Given the description of an element on the screen output the (x, y) to click on. 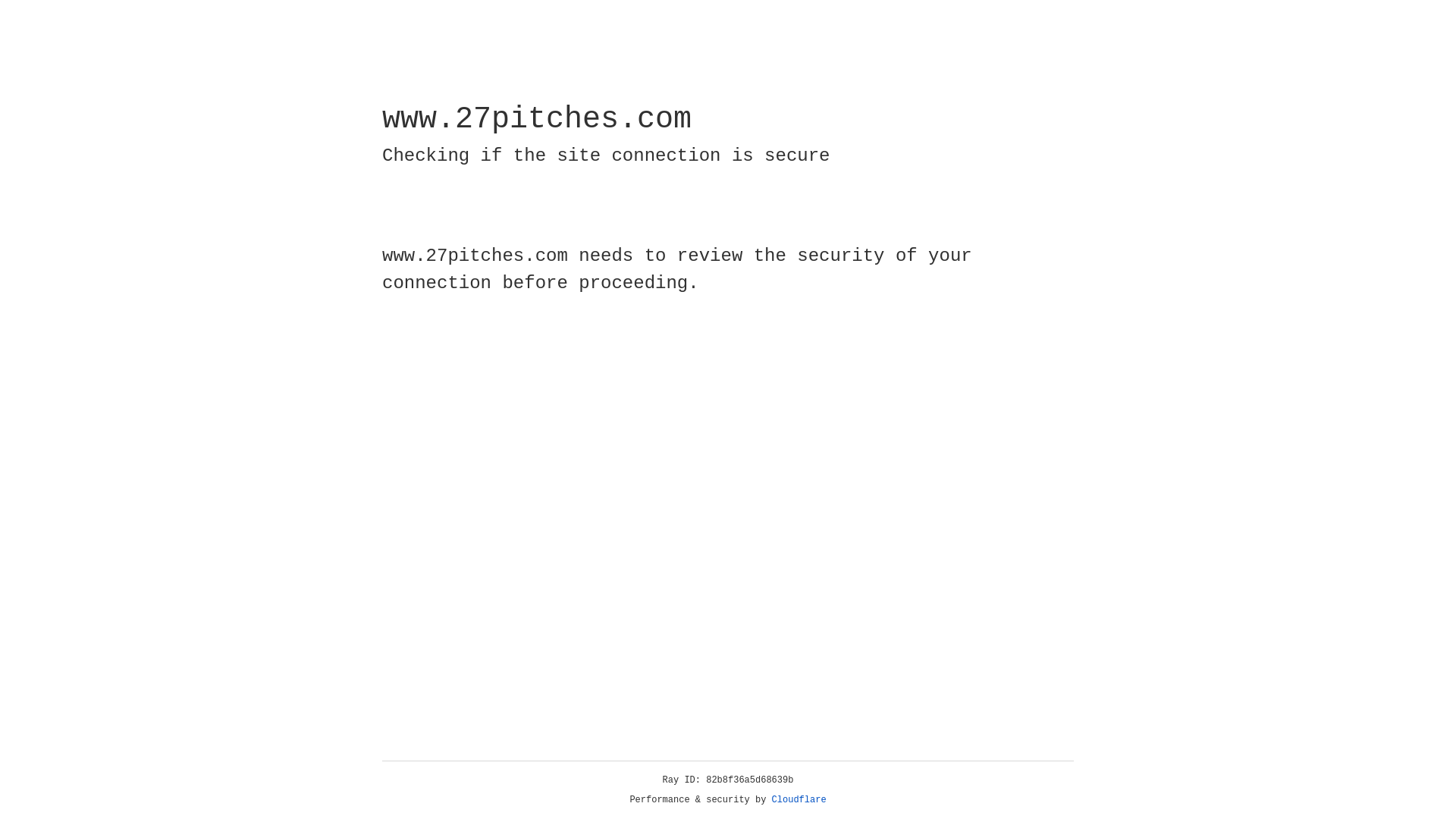
Cloudflare Element type: text (798, 799)
